Given the description of an element on the screen output the (x, y) to click on. 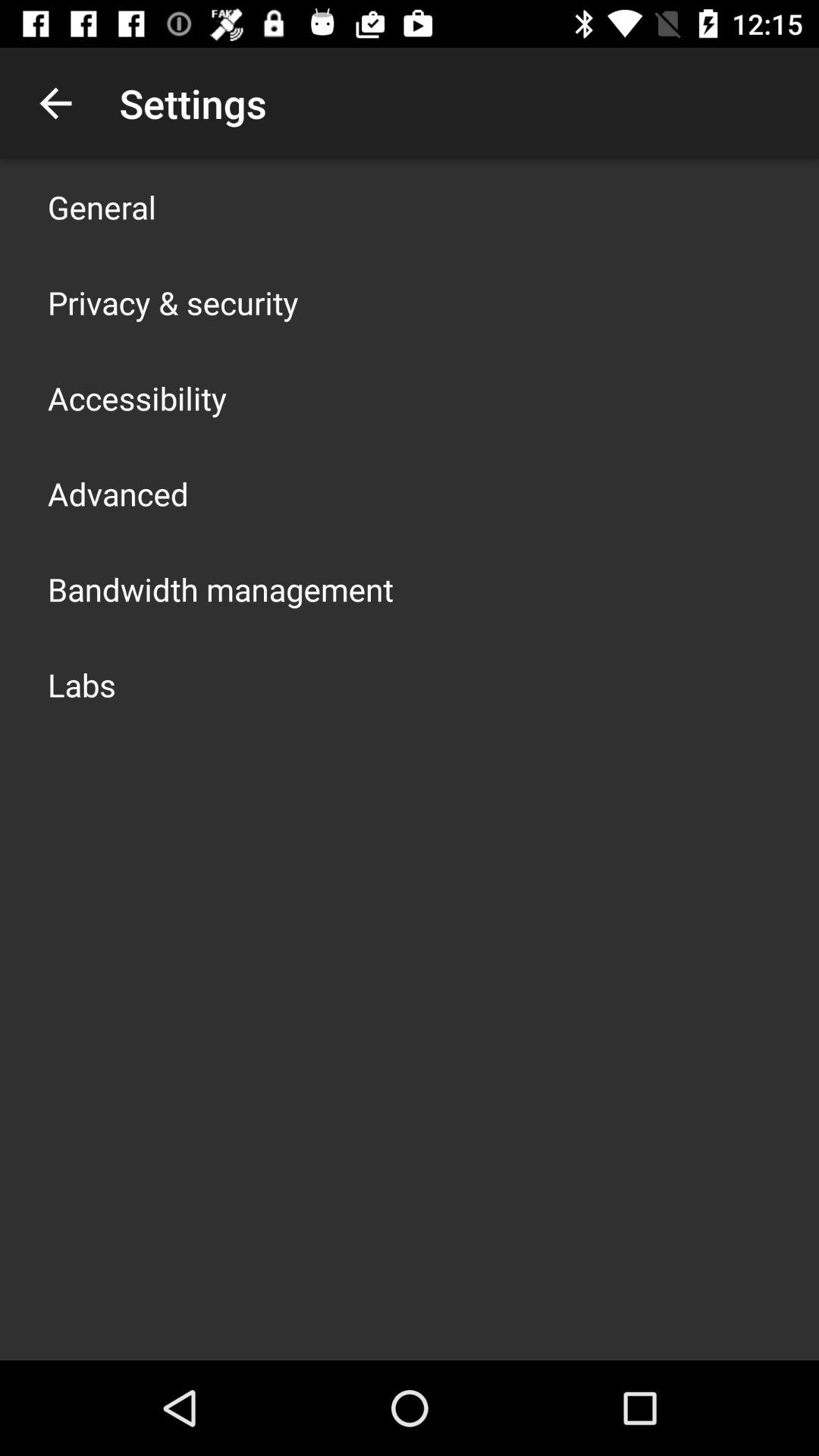
jump until bandwidth management item (220, 588)
